Given the description of an element on the screen output the (x, y) to click on. 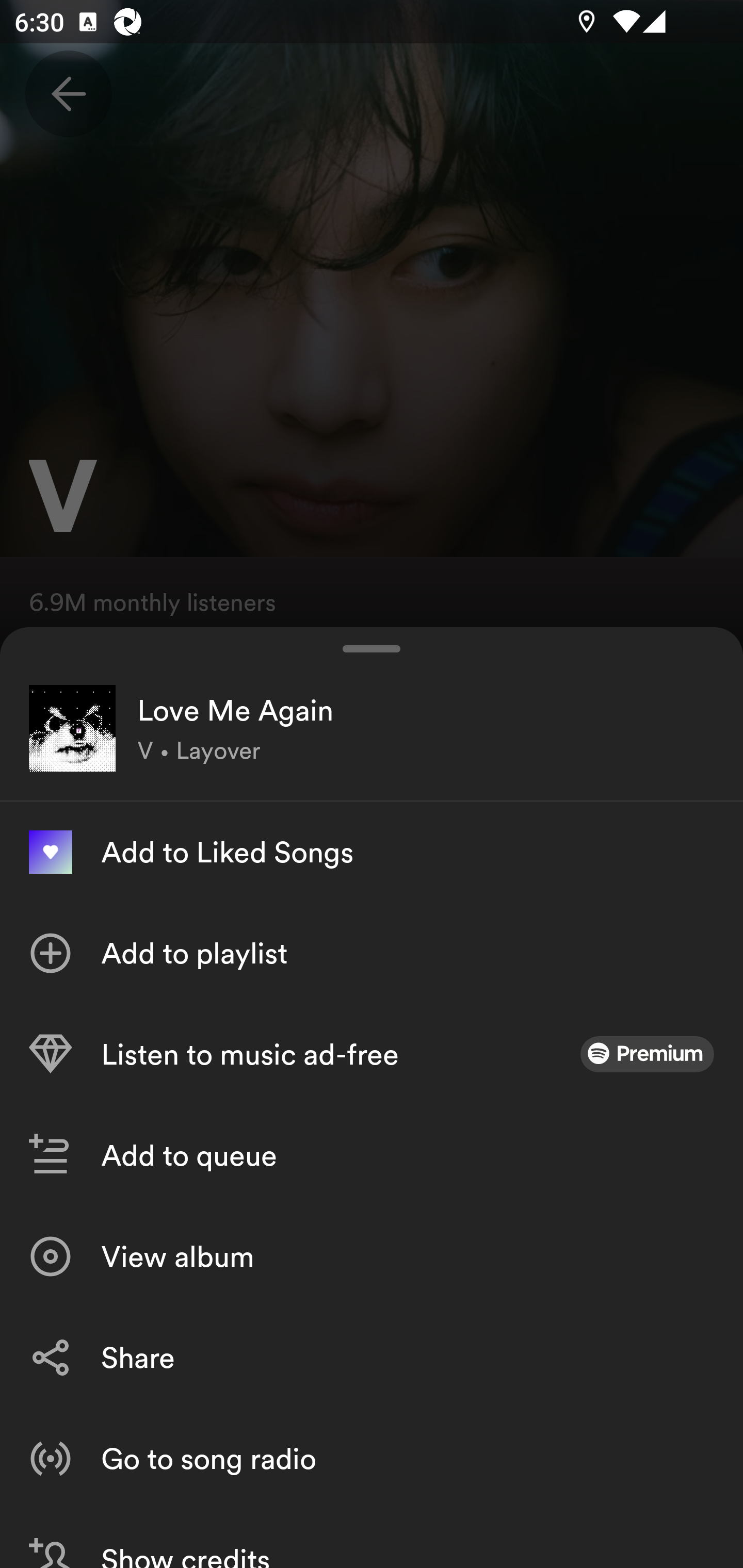
Add to Liked Songs (371, 852)
Add to playlist (371, 953)
Listen to music ad-free (371, 1054)
Add to queue (371, 1155)
View album (371, 1256)
Share (371, 1357)
Go to song radio (371, 1458)
Show credits (371, 1538)
